Given the description of an element on the screen output the (x, y) to click on. 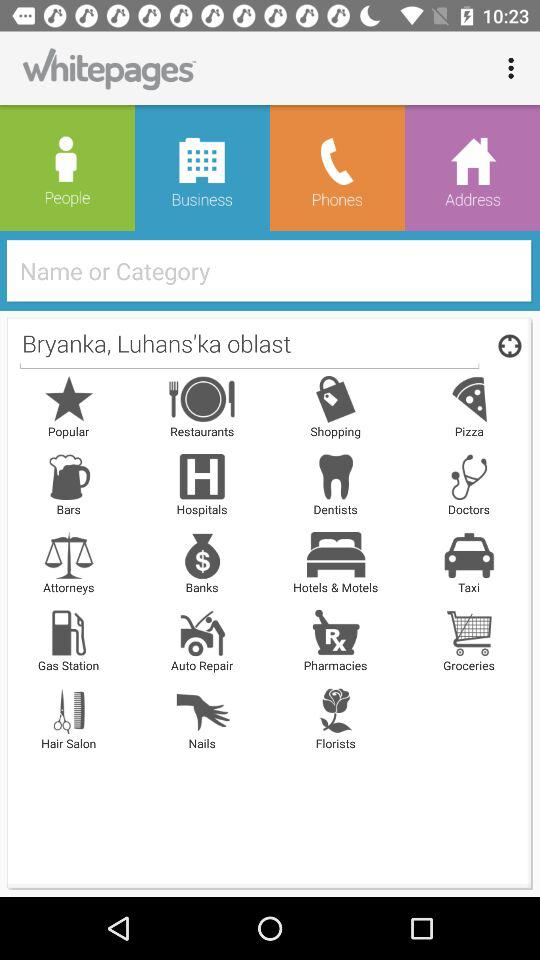
tap the item next to the bryanka luhans ka item (505, 345)
